Given the description of an element on the screen output the (x, y) to click on. 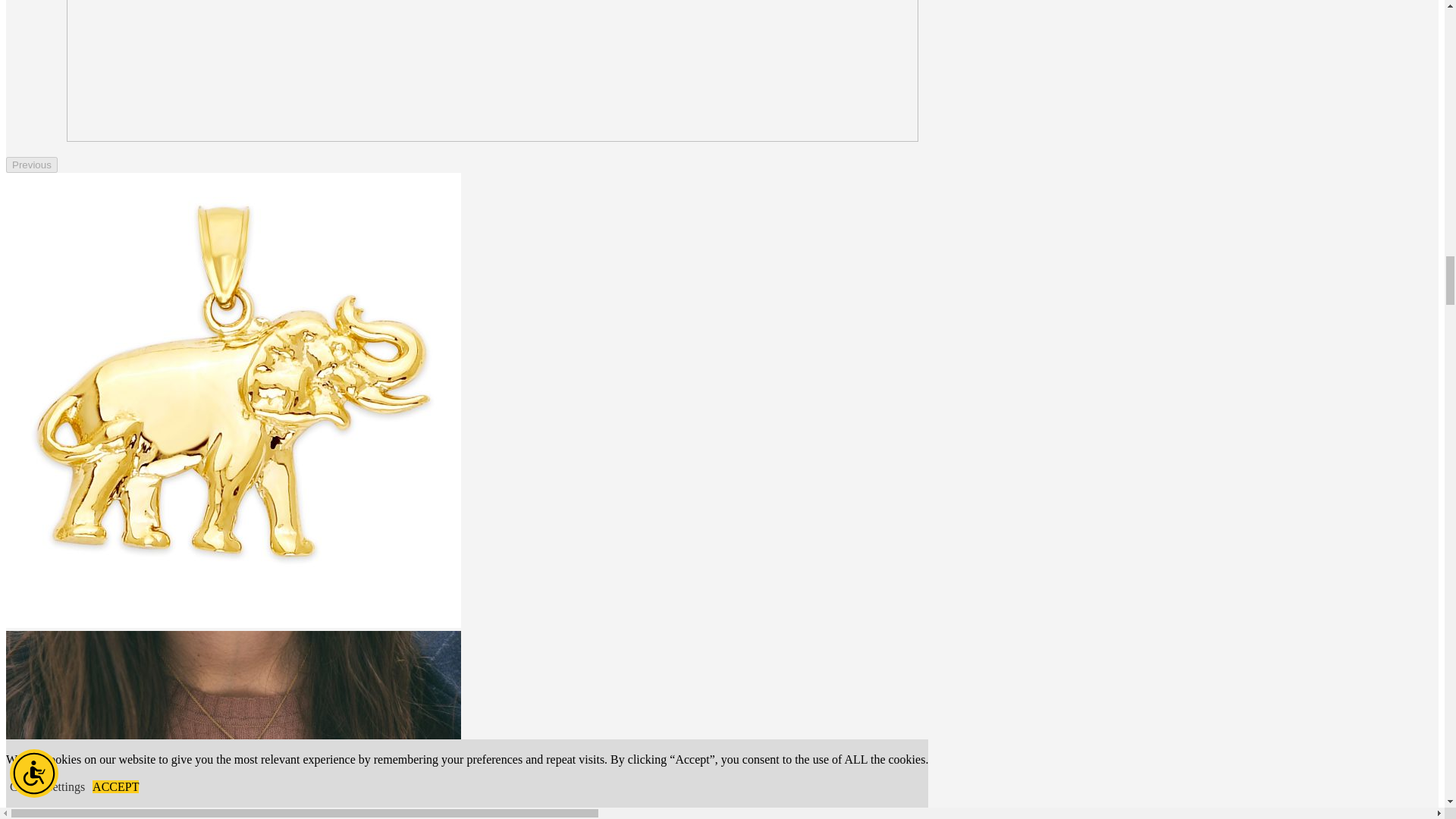
2043-03 Chest (233, 724)
2043-03 Rear (492, 70)
